Given the description of an element on the screen output the (x, y) to click on. 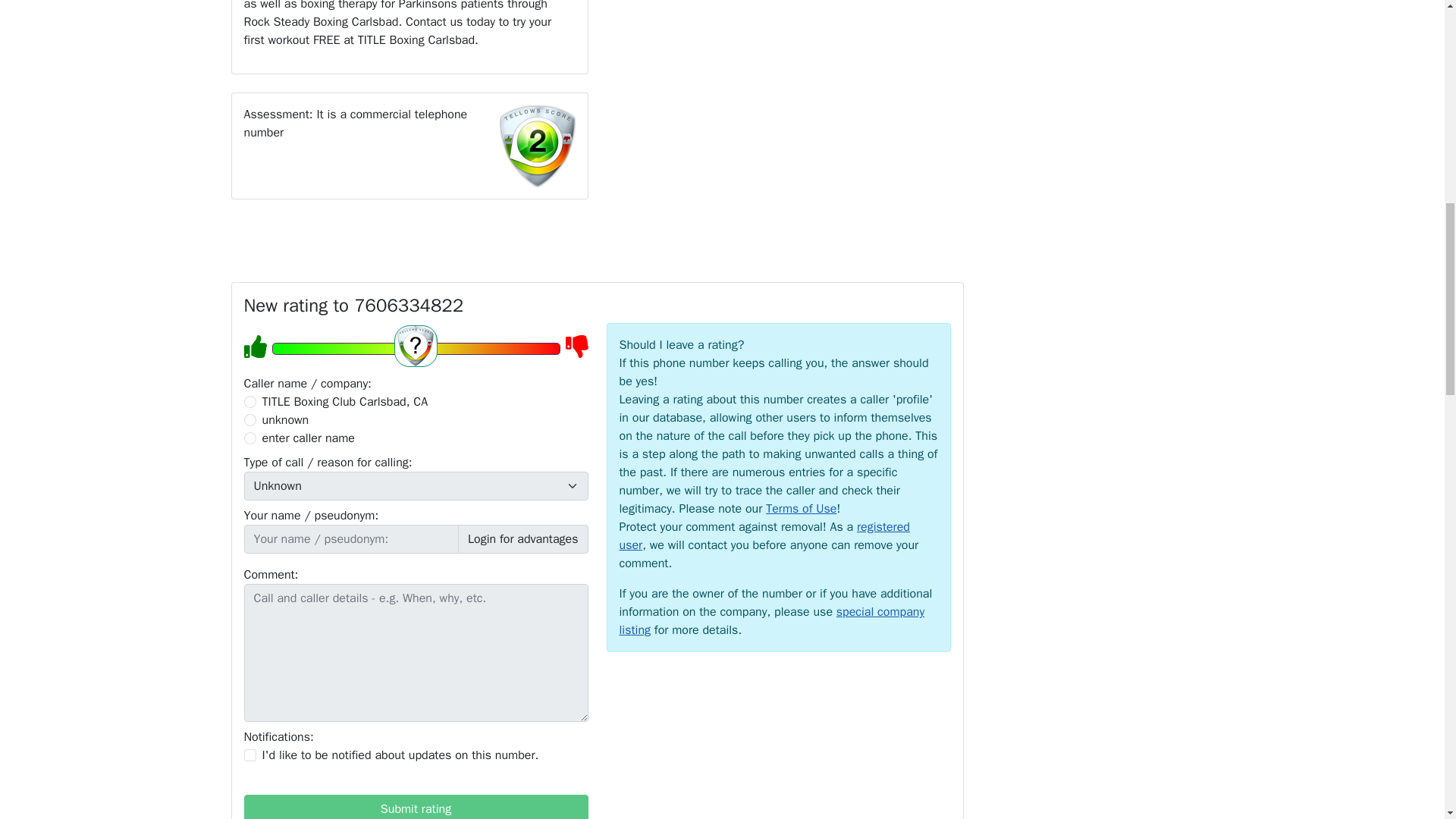
5 (414, 348)
Submit rating (416, 806)
2 (250, 419)
Submit rating (416, 806)
special company listing (771, 621)
registered user (763, 535)
Login for advantages (523, 538)
1 (250, 755)
3 (250, 438)
